Given the description of an element on the screen output the (x, y) to click on. 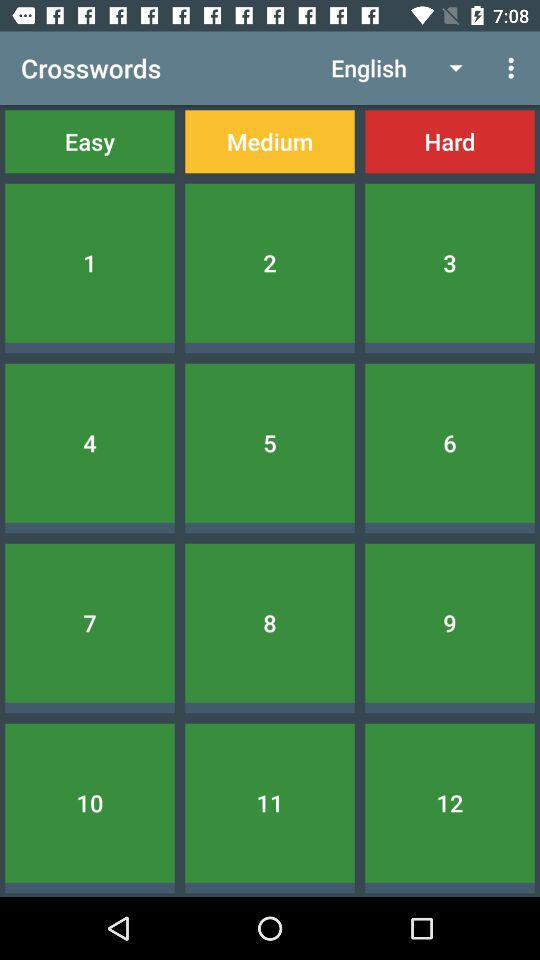
jump to 8 item (269, 622)
